Given the description of an element on the screen output the (x, y) to click on. 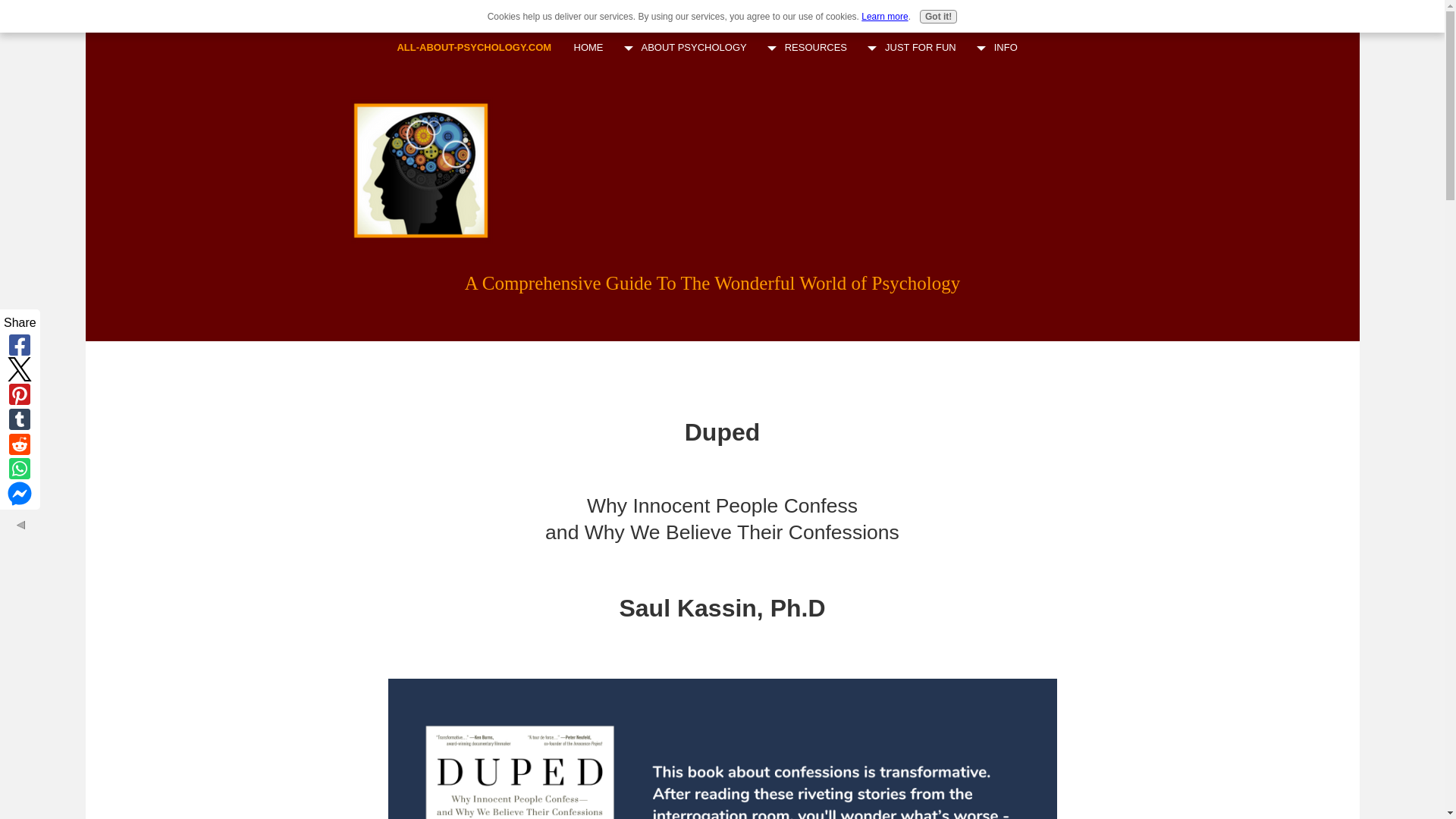
ALL-ABOUT-PSYCHOLOGY.COM (473, 47)
HOME (588, 47)
